Given the description of an element on the screen output the (x, y) to click on. 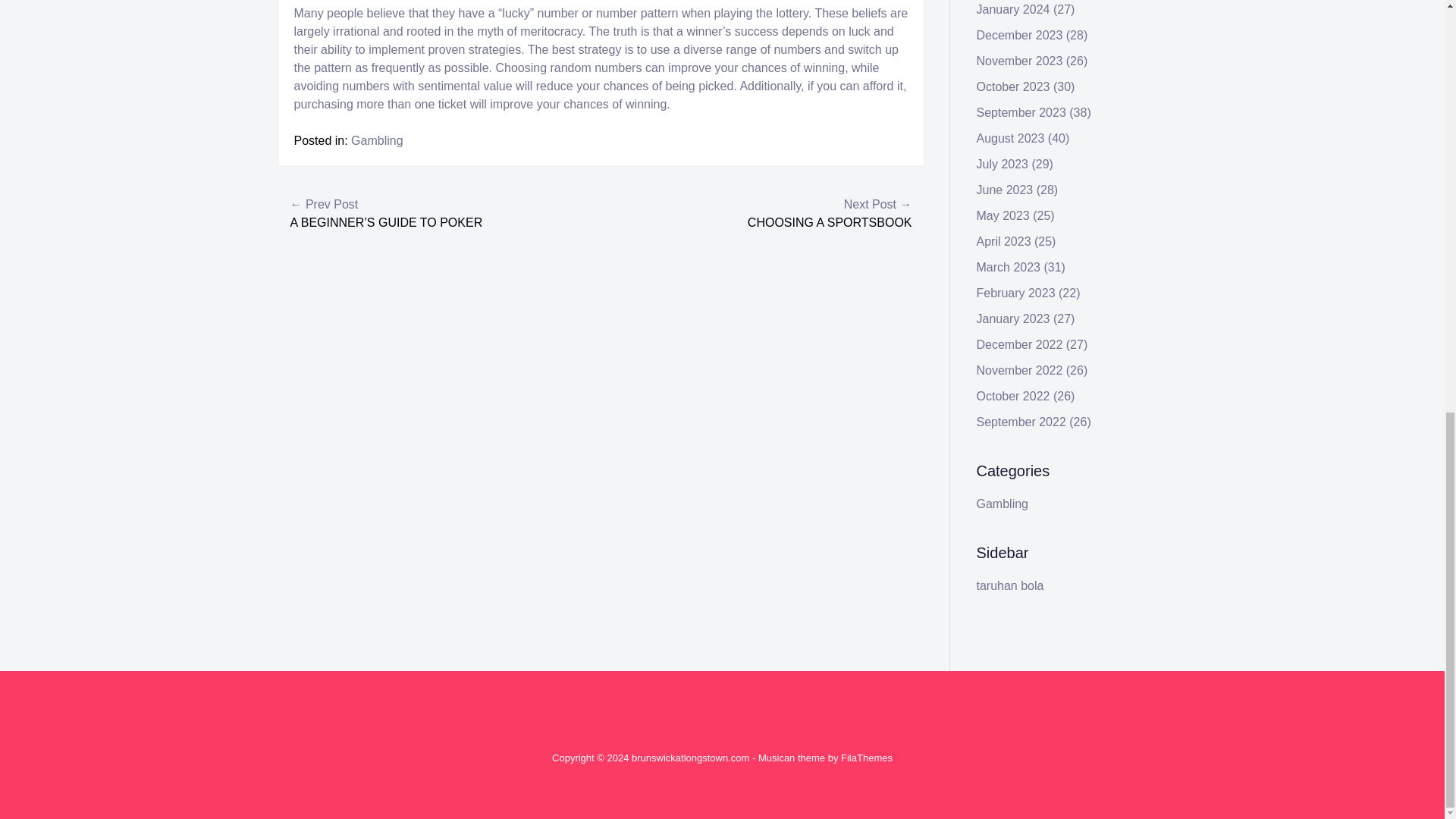
December 2023 (1019, 34)
March 2023 (1008, 267)
July 2023 (1002, 164)
May 2023 (1002, 215)
January 2023 (1012, 318)
June 2023 (1004, 189)
December 2022 (1019, 344)
January 2024 (1012, 9)
April 2023 (1003, 241)
September 2023 (1020, 112)
